Given the description of an element on the screen output the (x, y) to click on. 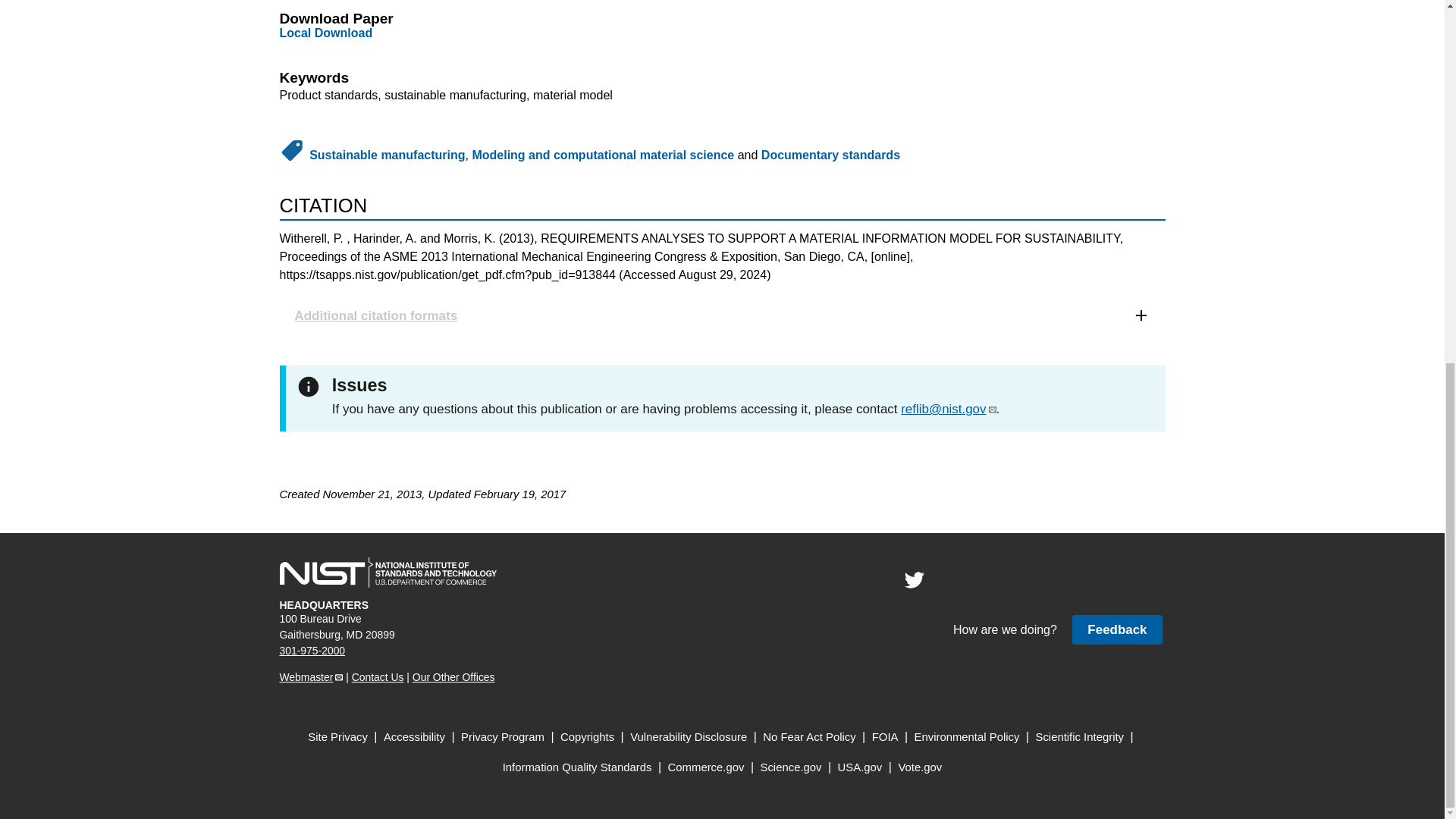
Accessibility (414, 736)
Privacy Program (502, 736)
Local Download (325, 32)
Copyrights (587, 736)
Modeling and computational material science (602, 154)
Contact Us (378, 676)
Vulnerability Disclosure (688, 736)
Site Privacy (337, 736)
No Fear Act Policy (809, 736)
Feedback (1116, 629)
